Given the description of an element on the screen output the (x, y) to click on. 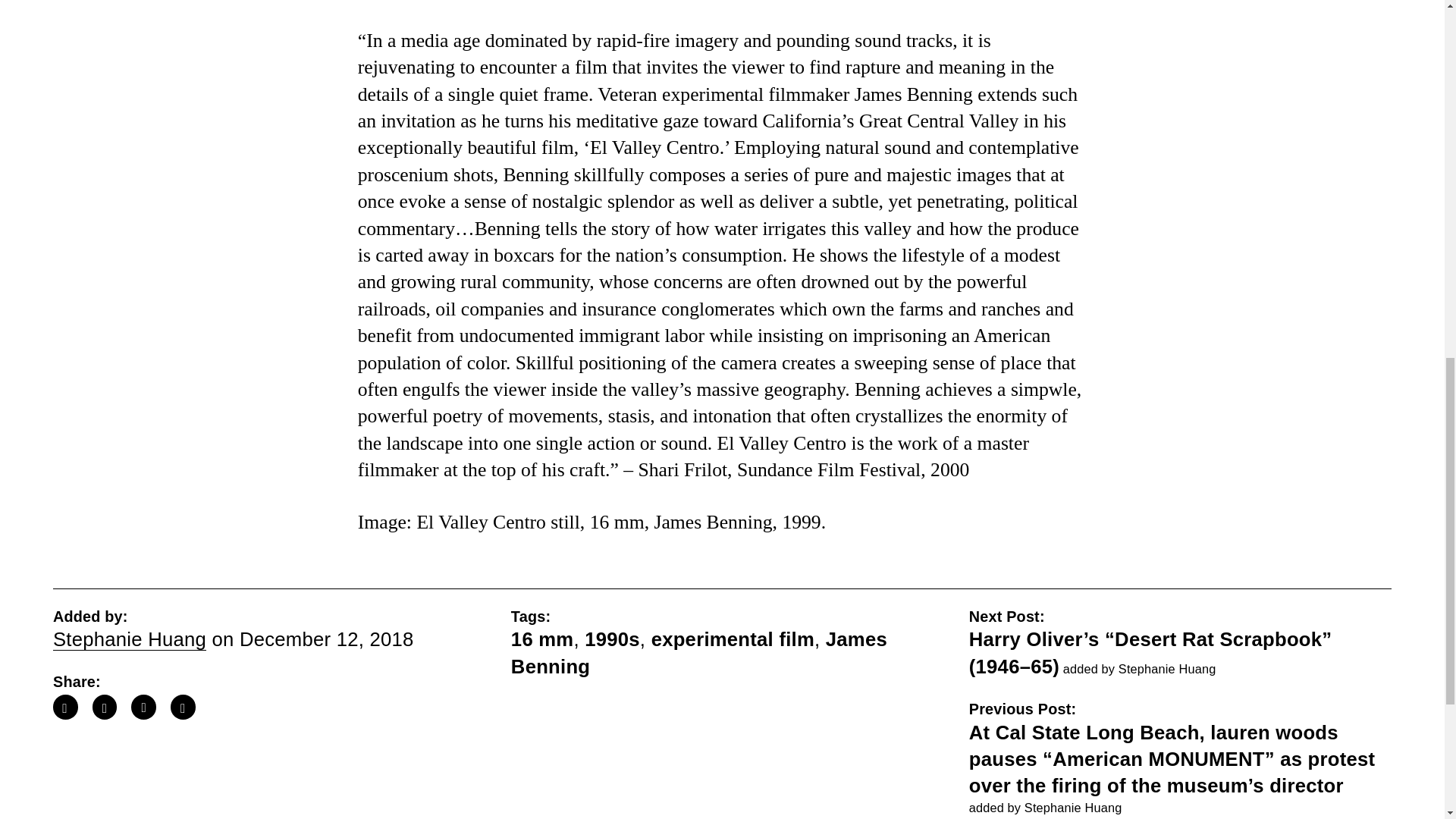
experimental film (731, 639)
James Benning (698, 652)
1990s (612, 639)
Stephanie Huang (129, 639)
16 mm (542, 639)
